Given the description of an element on the screen output the (x, y) to click on. 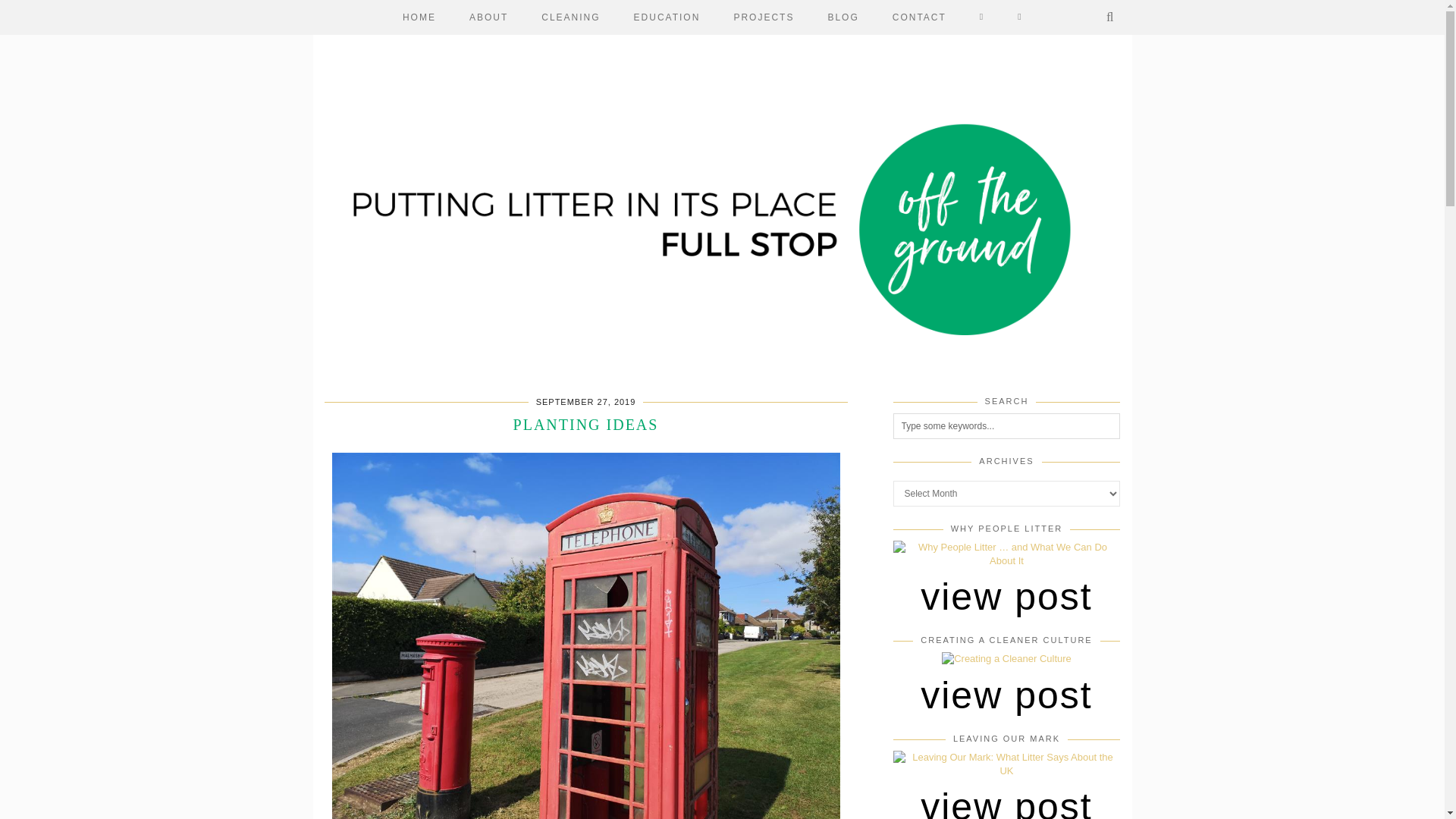
BLOG (842, 17)
TWITTER (1020, 17)
ABOUT (488, 17)
HOME (418, 17)
FACEBOOK (981, 17)
CLEANING (569, 17)
PROJECTS (763, 17)
EDUCATION (667, 17)
CONTACT (919, 17)
